Given the description of an element on the screen output the (x, y) to click on. 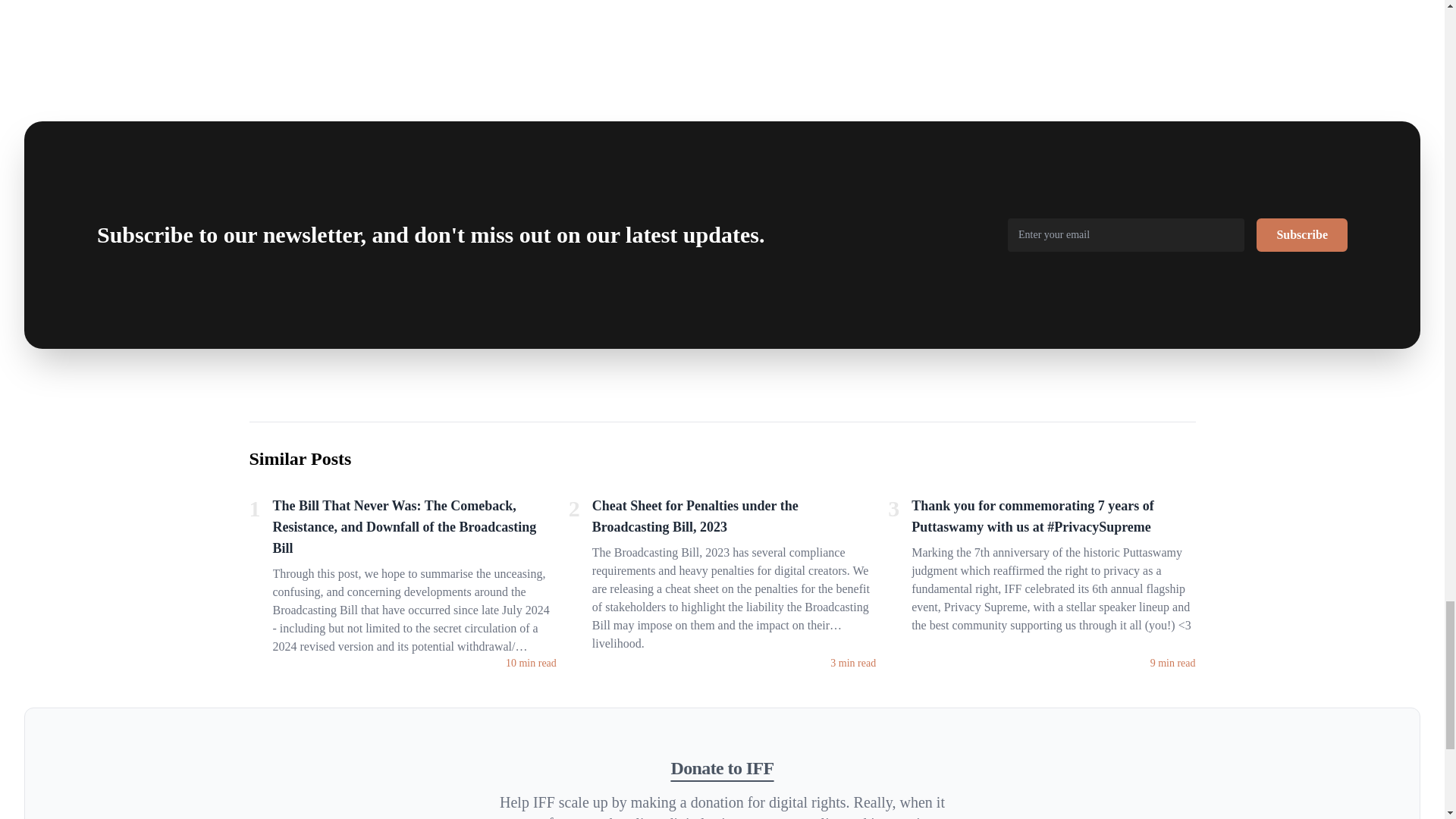
Cheat Sheet for Penalties under the Broadcasting Bill, 2023 (734, 519)
Subscribe (1302, 234)
